Given the description of an element on the screen output the (x, y) to click on. 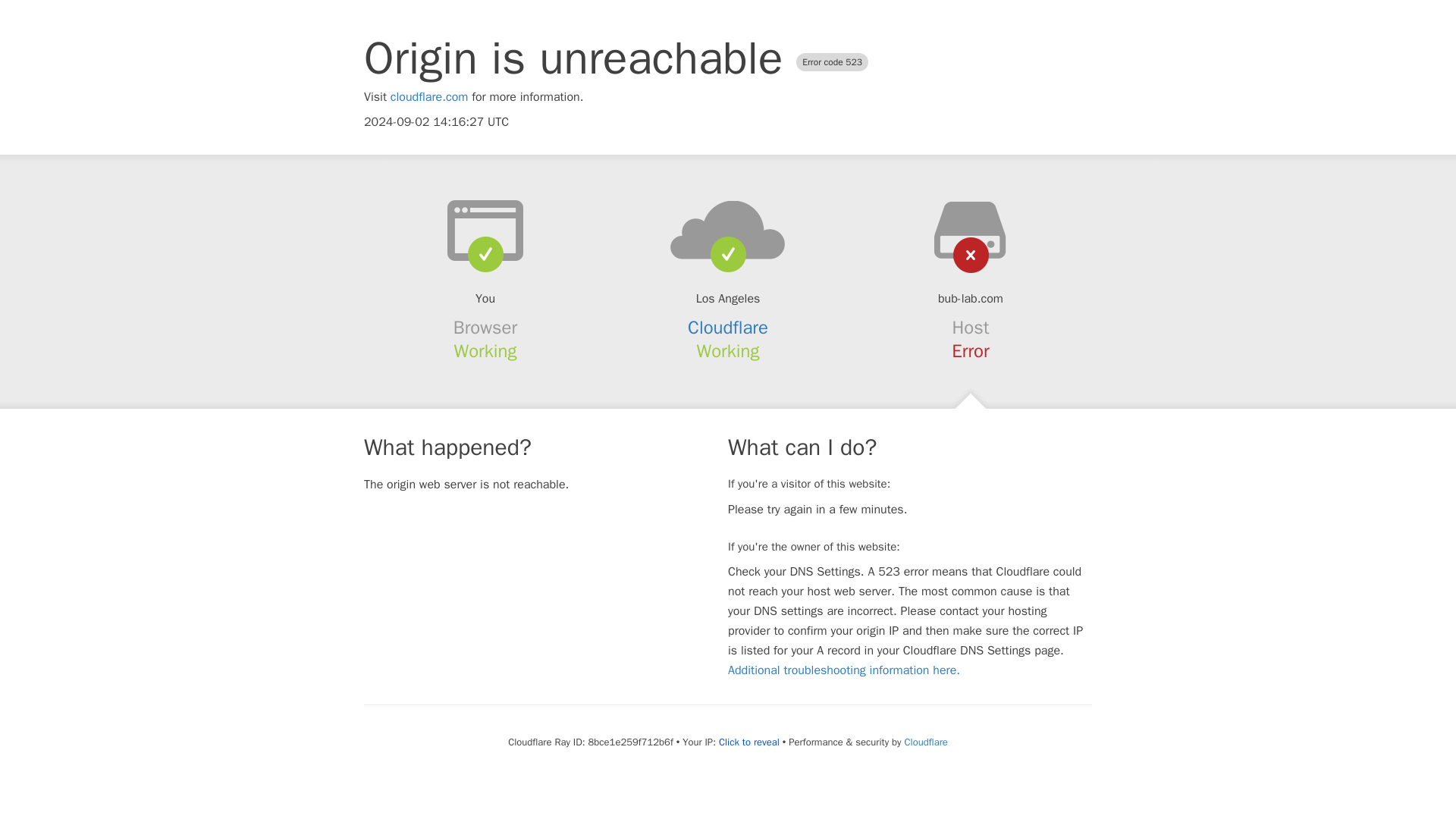
cloudflare.com (429, 96)
Click to reveal (748, 742)
Cloudflare (925, 741)
Additional troubleshooting information here. (843, 670)
Cloudflare (727, 327)
